Given the description of an element on the screen output the (x, y) to click on. 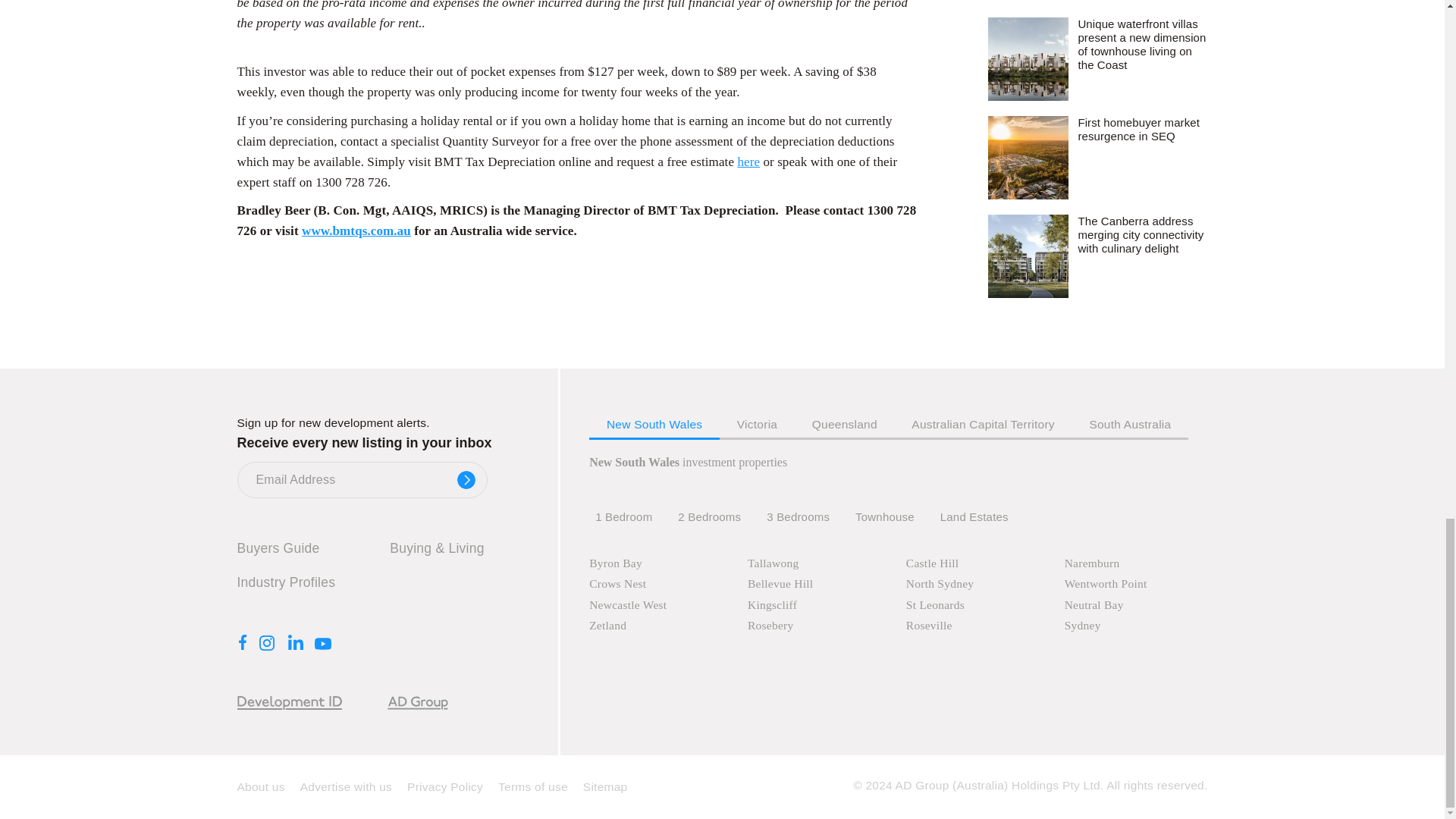
www.bmtqs.com.au (355, 230)
here (748, 161)
